Given the description of an element on the screen output the (x, y) to click on. 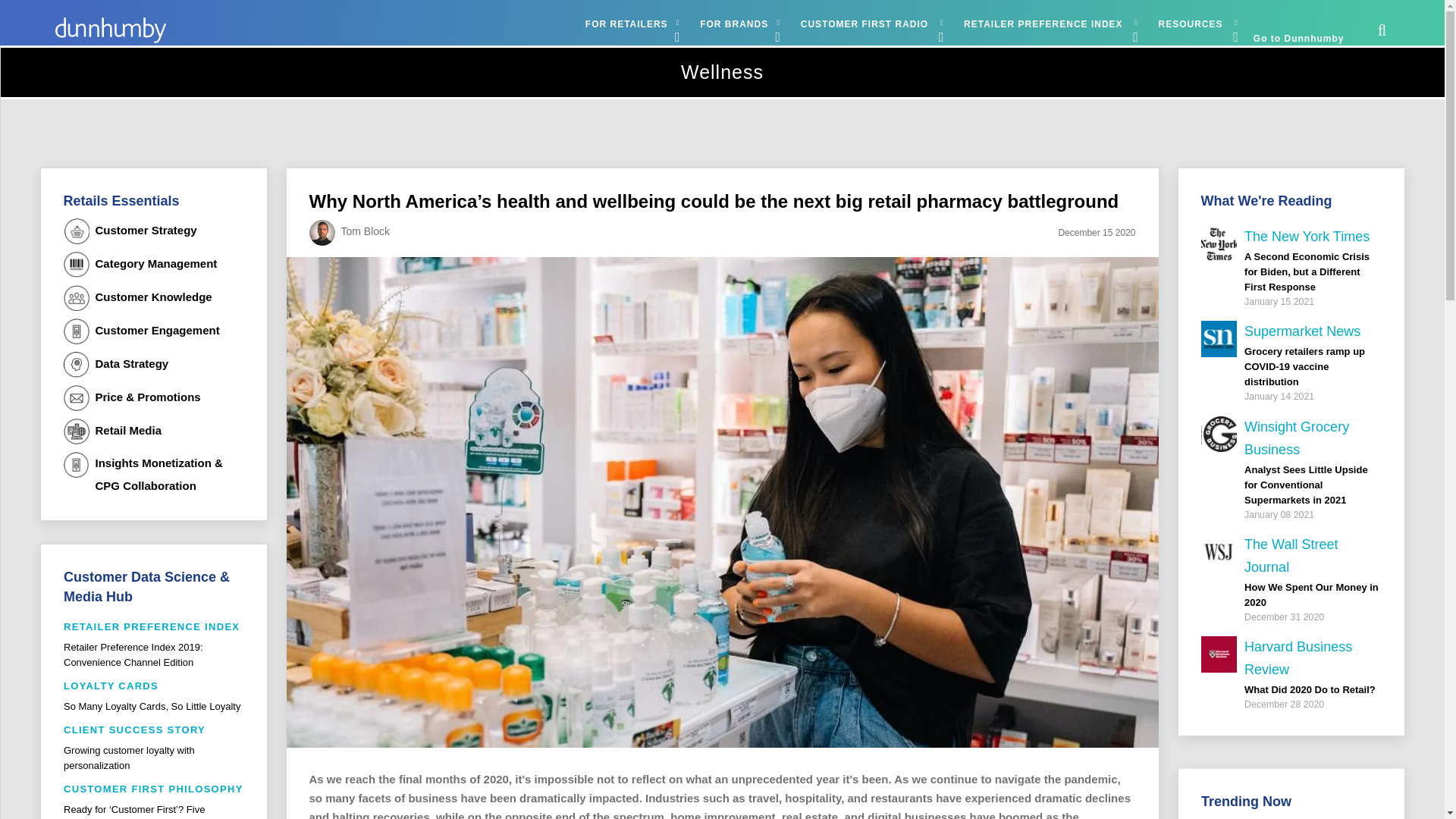
FOR RETAILERS (629, 24)
